Given the description of an element on the screen output the (x, y) to click on. 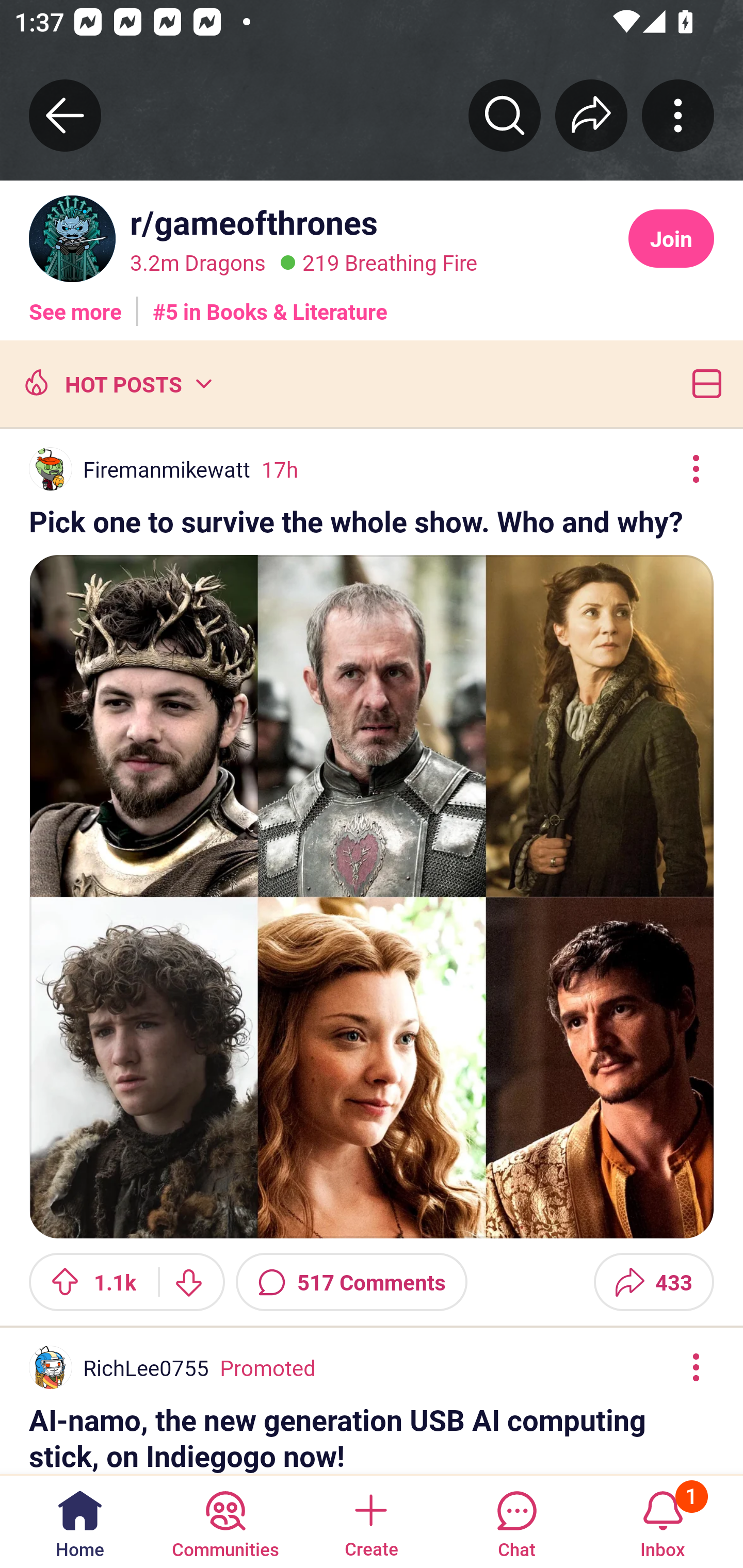
Back (64, 115)
Search r/﻿gameofthrones (504, 115)
Share r/﻿gameofthrones (591, 115)
More community actions (677, 115)
See more (74, 304)
#5 in Books & Literature (270, 304)
Hot posts HOT POSTS (116, 383)
Card (703, 383)
Home (80, 1520)
Communities (225, 1520)
Create a post Create (370, 1520)
Chat (516, 1520)
Inbox, has 1 notification 1 Inbox (662, 1520)
